Given the description of an element on the screen output the (x, y) to click on. 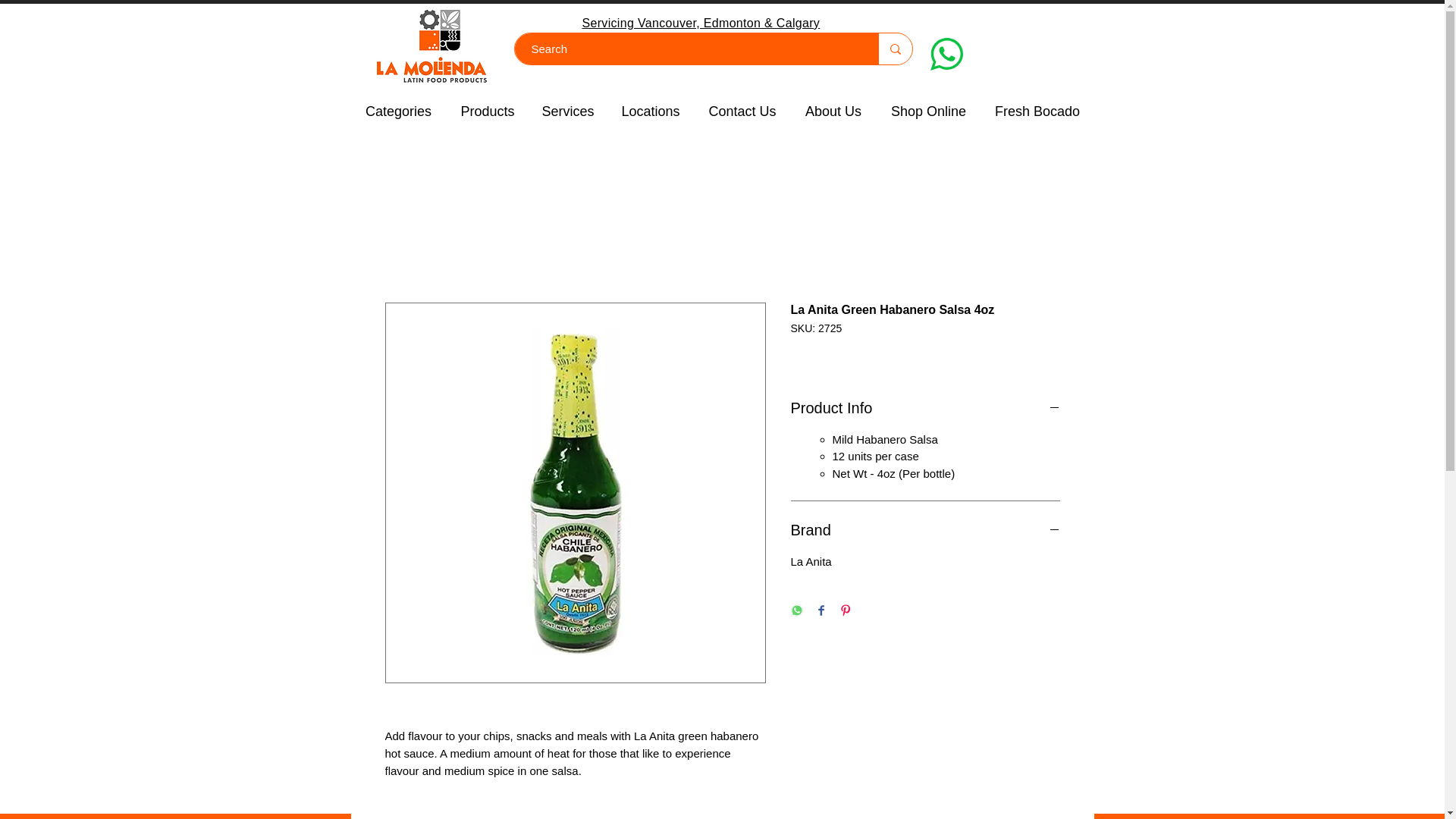
Shop Online (928, 111)
Contact Us (742, 111)
Brand (924, 529)
Locations (650, 111)
Services (568, 111)
Fresh Bocado (1037, 111)
Product Info (924, 407)
Categories (397, 111)
